Given the description of an element on the screen output the (x, y) to click on. 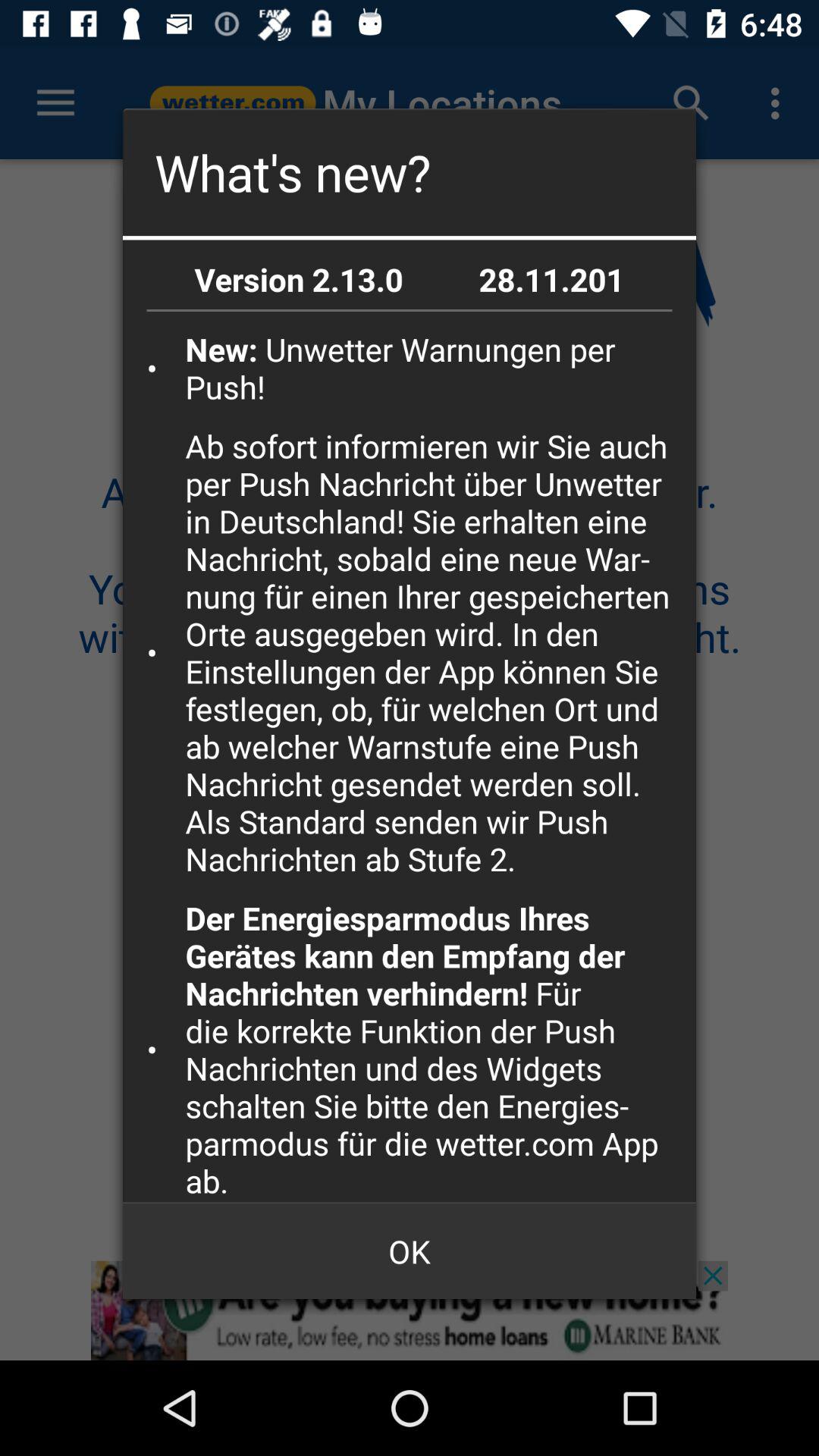
turn off icon above der energiesparmodus ihres item (435, 652)
